Given the description of an element on the screen output the (x, y) to click on. 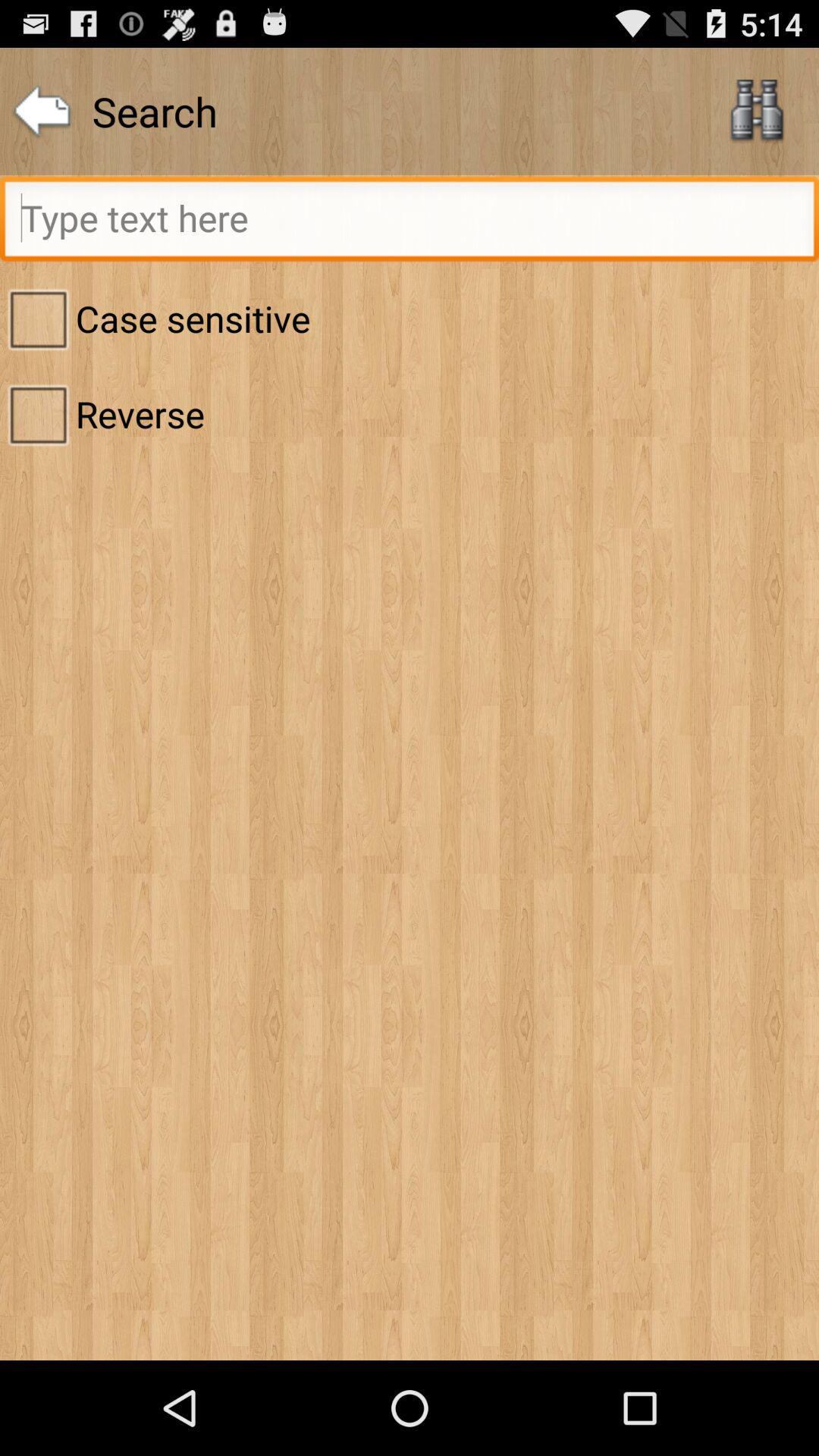
write text (409, 222)
